Given the description of an element on the screen output the (x, y) to click on. 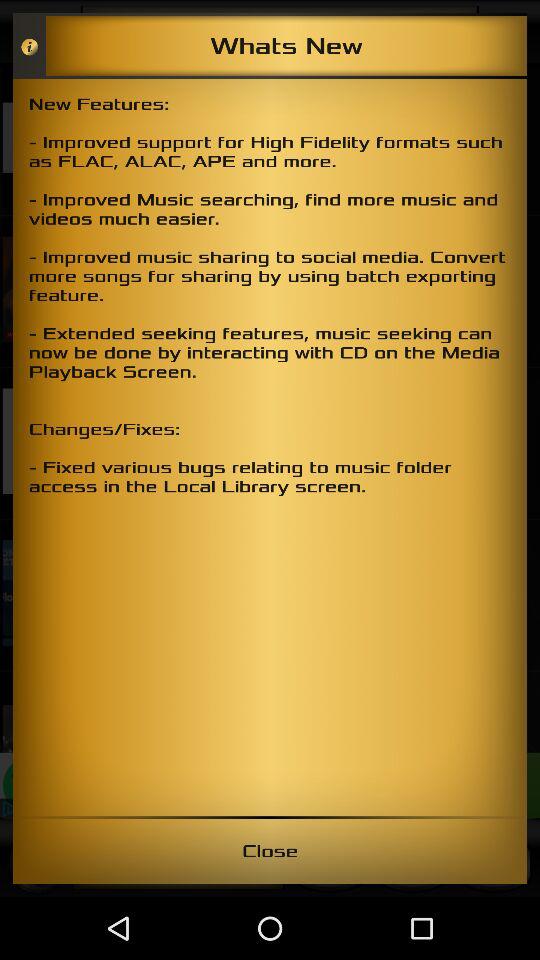
jump to new features improved (269, 447)
